Given the description of an element on the screen output the (x, y) to click on. 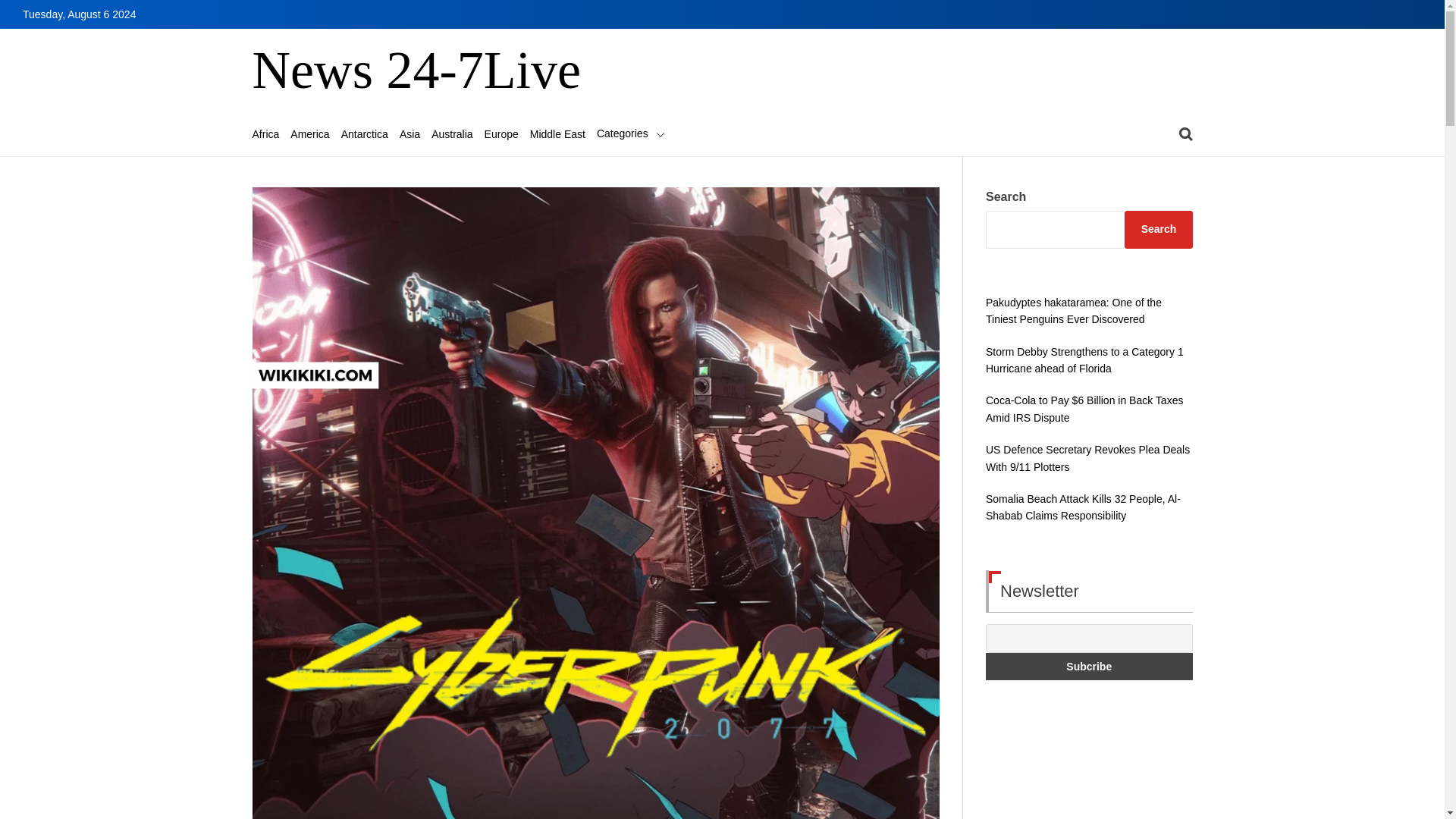
Australia (450, 133)
Subcribe (1088, 666)
Asia (409, 133)
Antarctica (364, 133)
Middle East (557, 133)
America (309, 133)
Categories (630, 133)
Africa (265, 133)
Europe (501, 133)
News 24-7Live (415, 70)
